Given the description of an element on the screen output the (x, y) to click on. 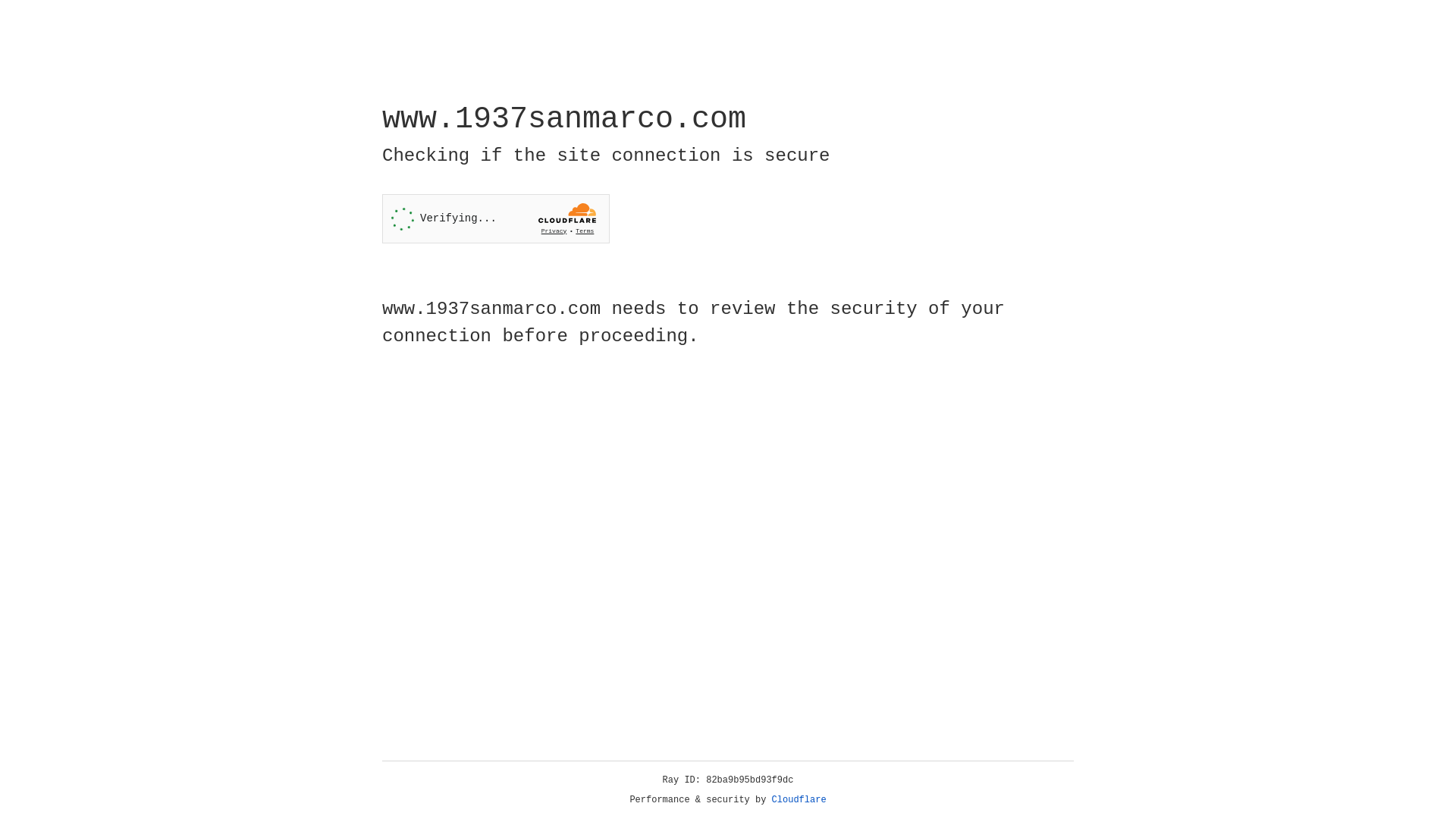
Widget containing a Cloudflare security challenge Element type: hover (495, 218)
Cloudflare Element type: text (798, 799)
